Given the description of an element on the screen output the (x, y) to click on. 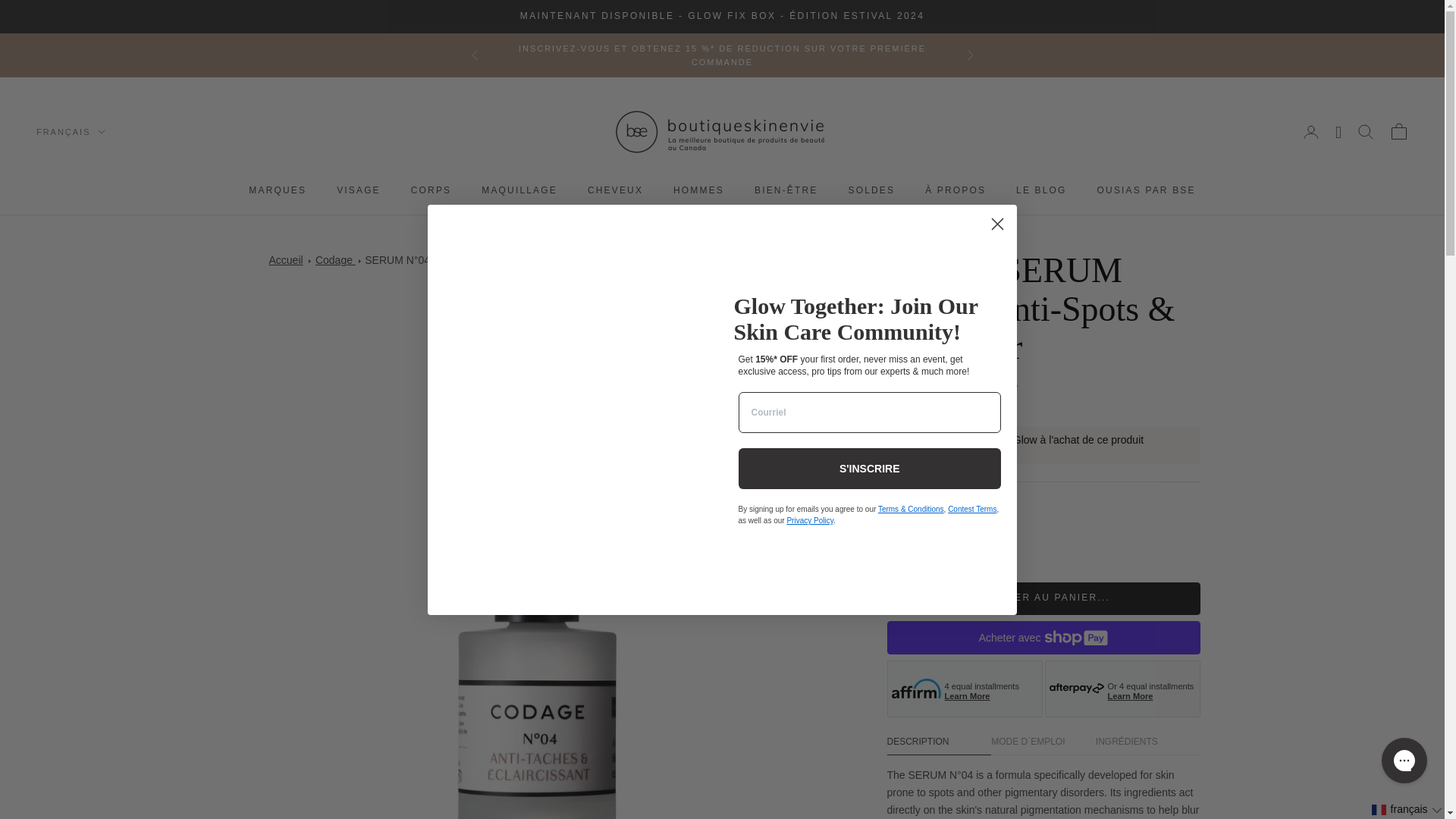
Codage (335, 259)
THE BSE APP (721, 15)
Gorgias live chat messenger (1404, 760)
Boutique Skin Envie (721, 132)
1 (935, 540)
